Given the description of an element on the screen output the (x, y) to click on. 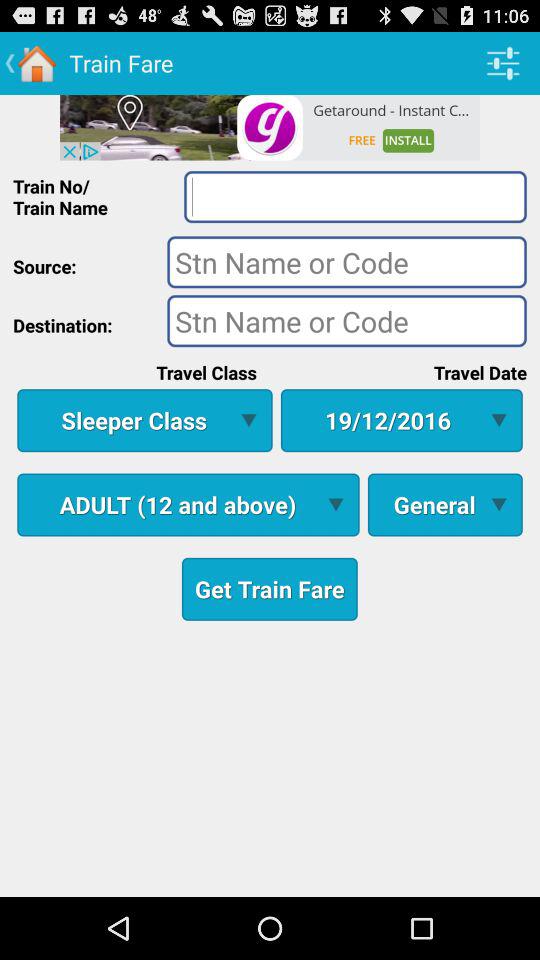
getaround advertisement (270, 127)
